Given the description of an element on the screen output the (x, y) to click on. 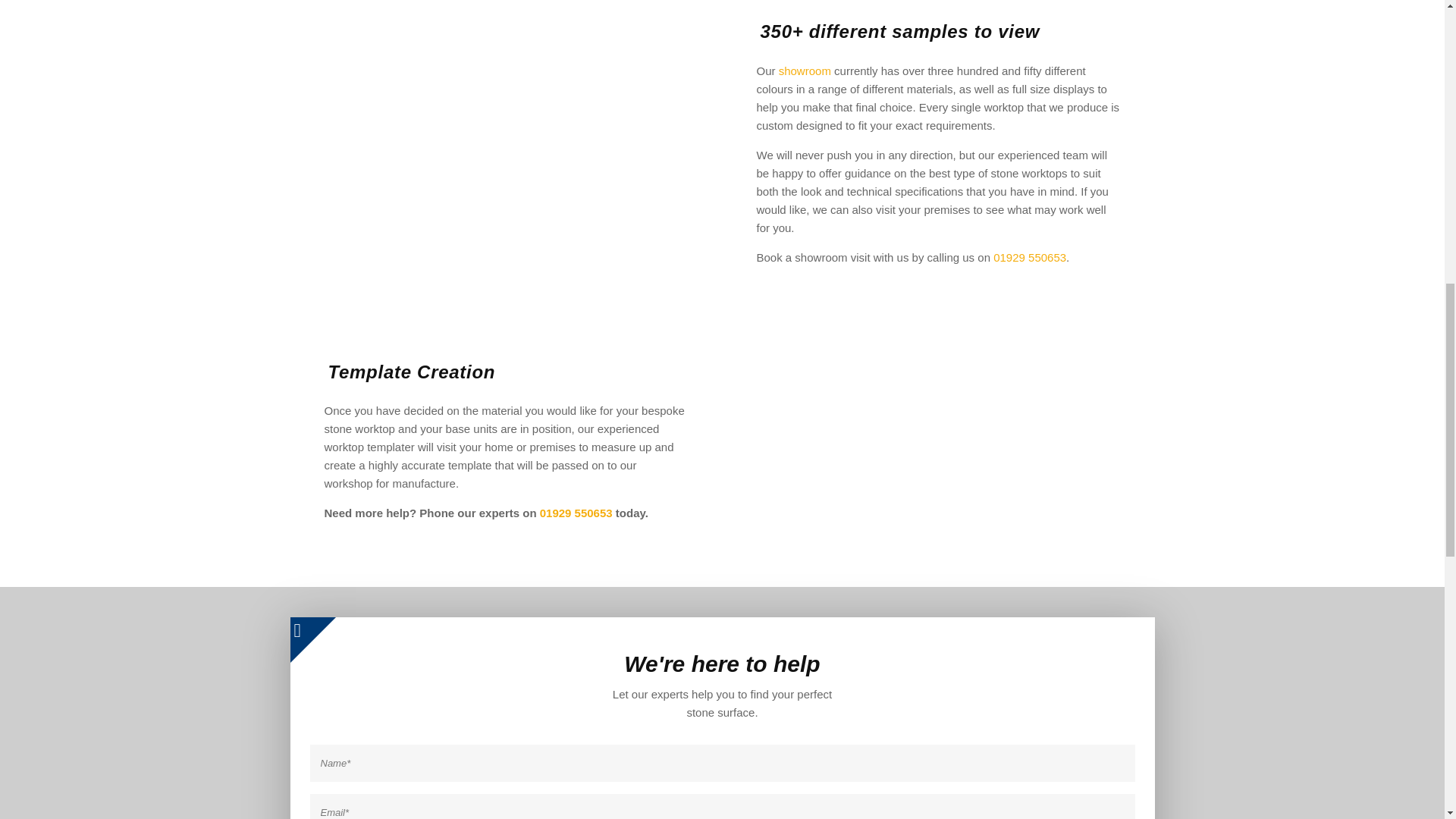
showroom (804, 70)
